Given the description of an element on the screen output the (x, y) to click on. 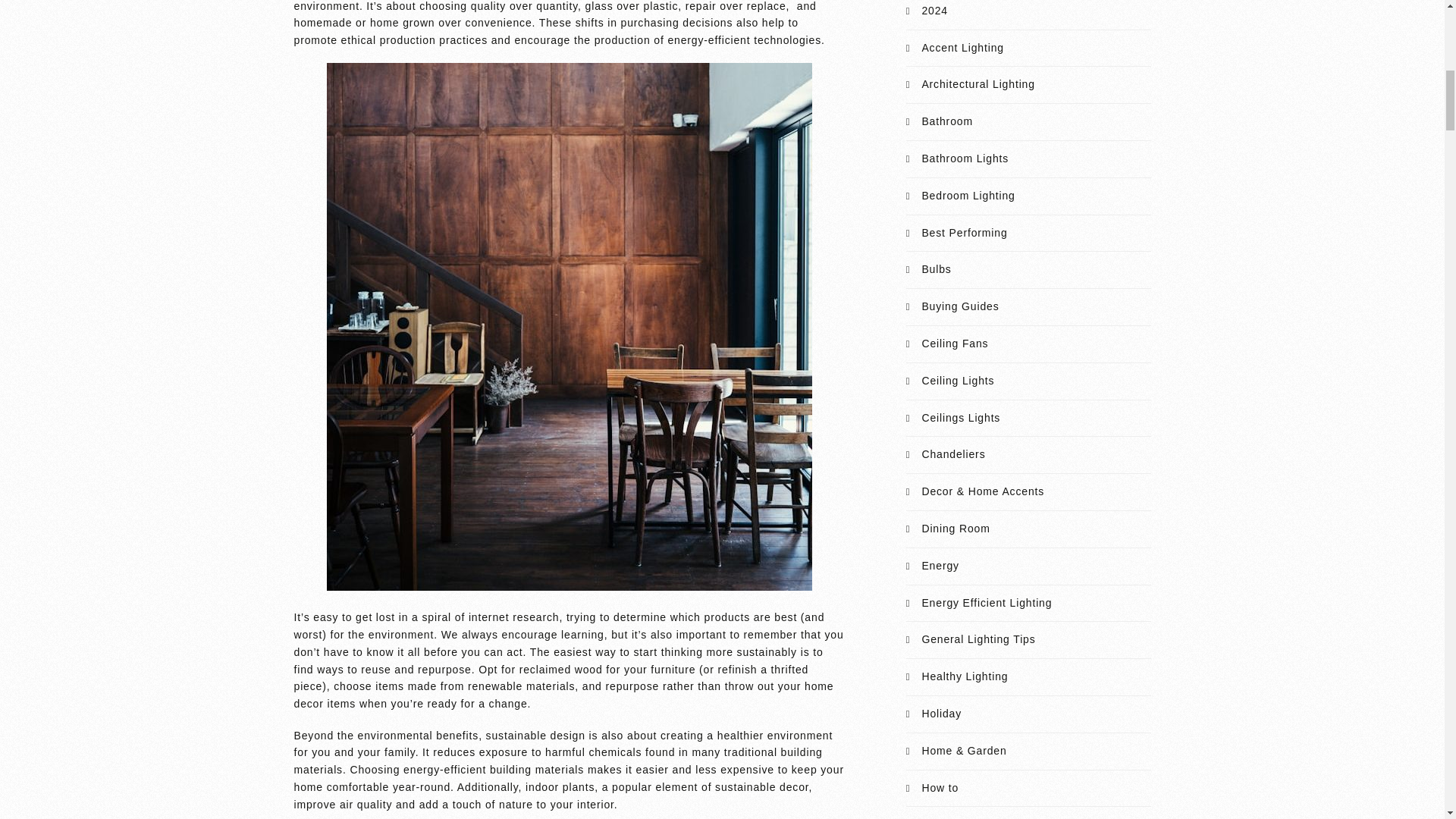
2024 (934, 10)
Bulbs (935, 268)
Bedroom Lighting (967, 195)
Architectural Lighting (977, 83)
Best Performing (964, 232)
Bathroom (946, 121)
Accent Lighting (962, 47)
Bathroom Lights (965, 158)
